Given the description of an element on the screen output the (x, y) to click on. 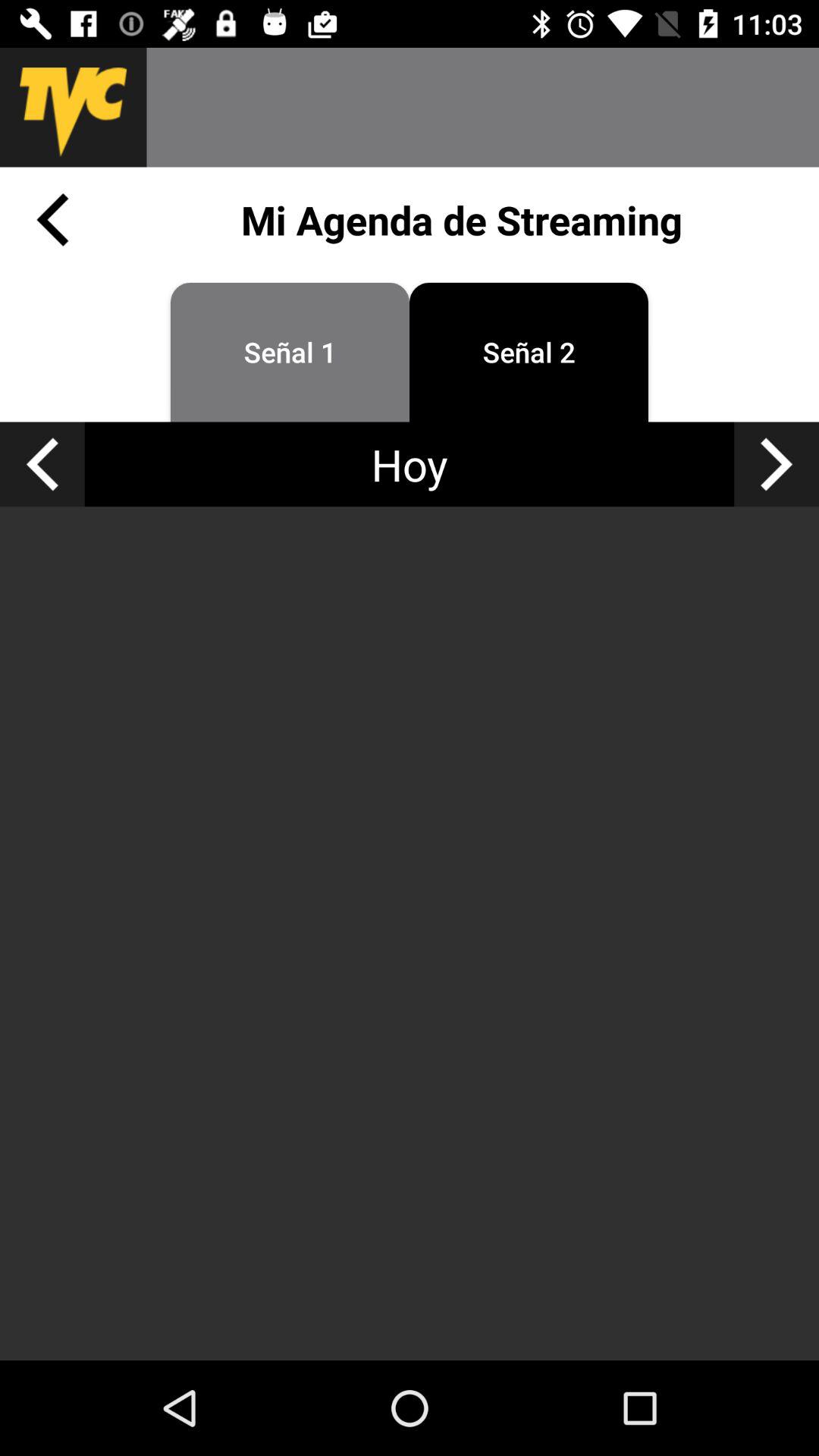
next right (776, 464)
